Given the description of an element on the screen output the (x, y) to click on. 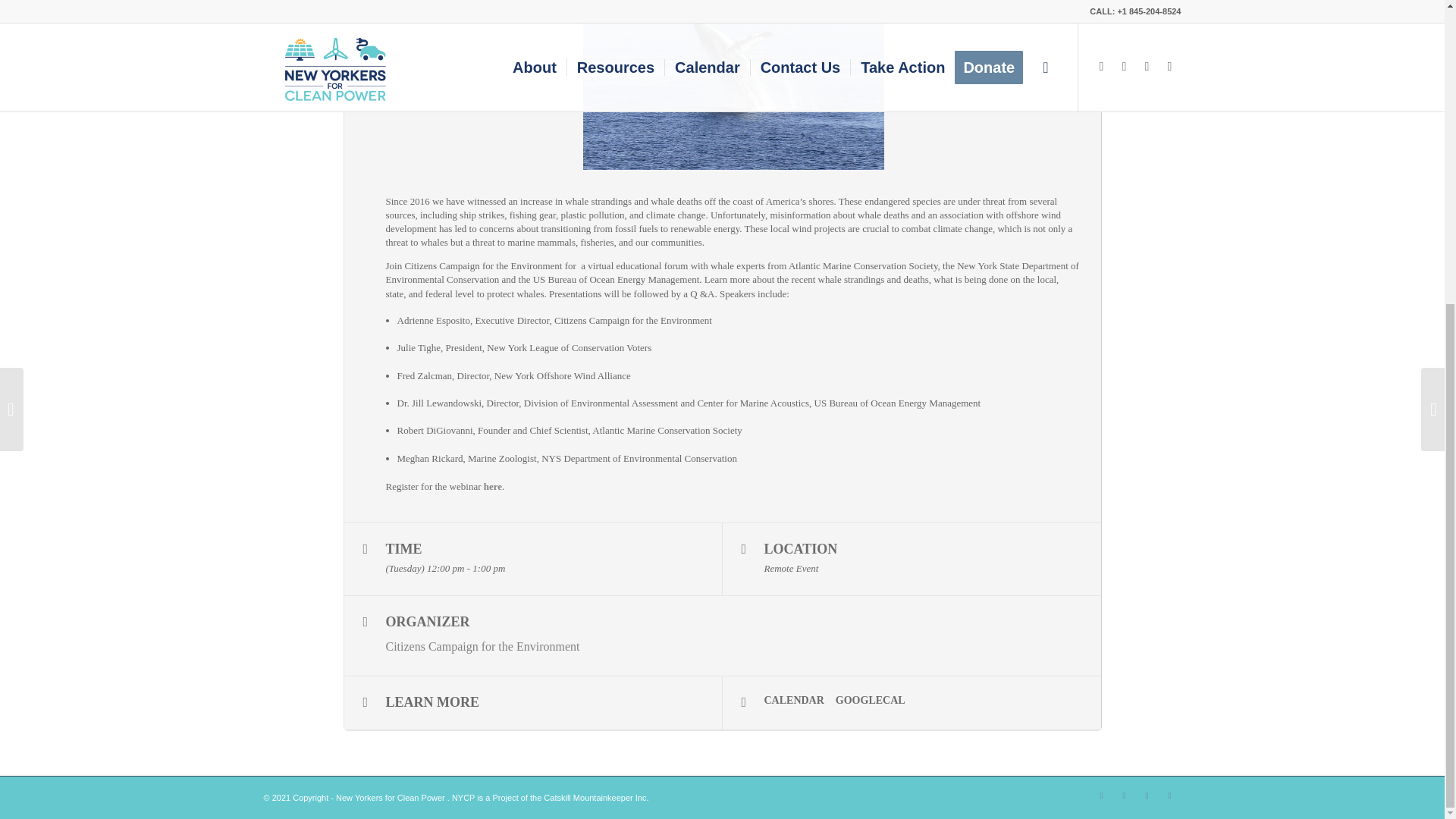
Instagram (1124, 794)
Twitter (1101, 794)
Add to google calendar (876, 700)
CALENDAR (799, 700)
Citizens Campaign for the Environment (482, 645)
Youtube (1169, 794)
here (492, 486)
LEARN MORE (532, 702)
GOOGLECAL (876, 700)
LOCATION (801, 548)
